Given the description of an element on the screen output the (x, y) to click on. 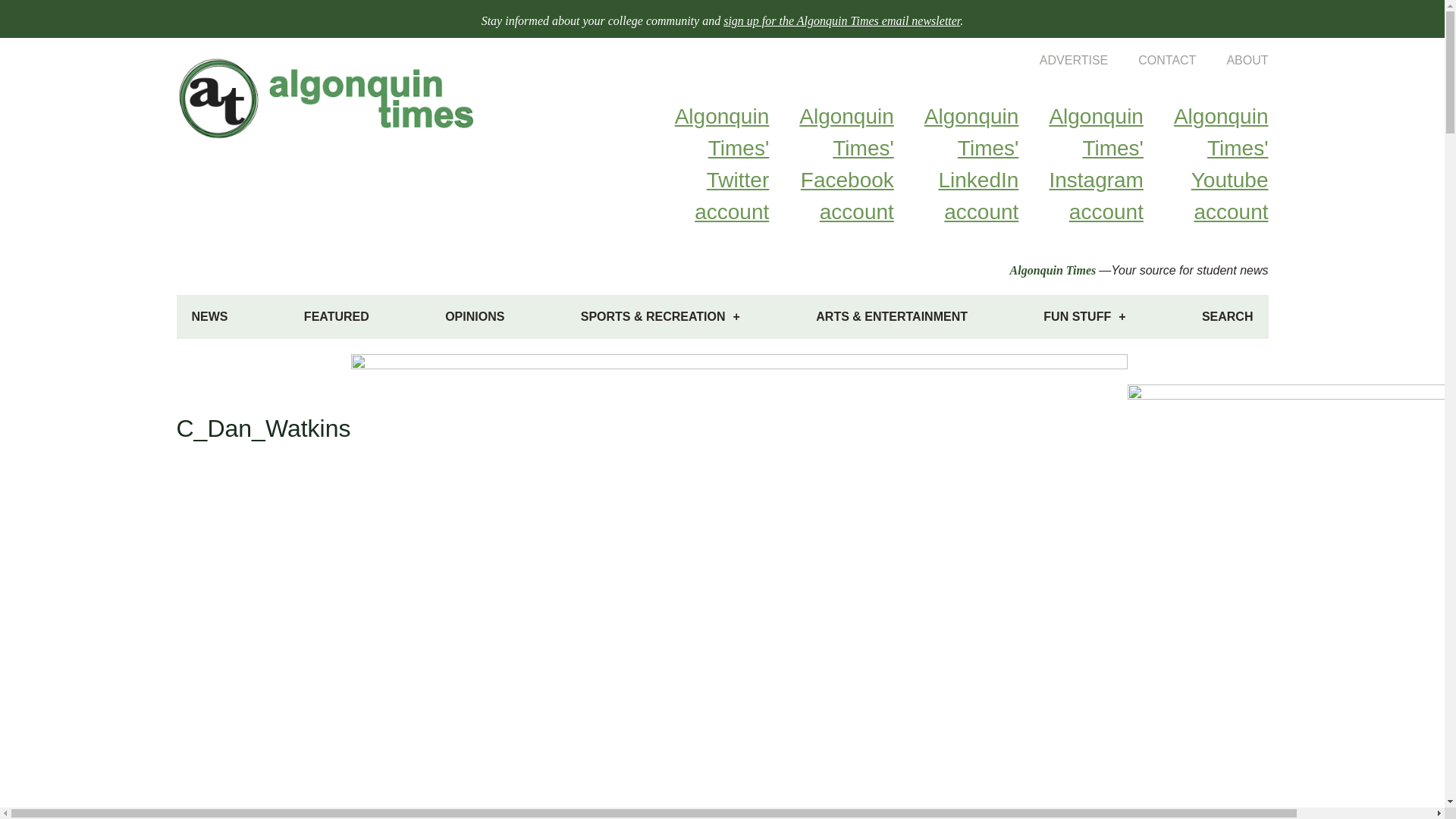
SEARCH (1227, 316)
OPINIONS (474, 316)
ADVERTISE (1058, 60)
Algonquin Times' Facebook account (830, 163)
sign up for the Algonquin Times email newsletter (841, 20)
FEATURED (336, 316)
Algonquin Times' Twitter account (707, 163)
Algonquin Times' Instagram account (1079, 163)
Algonquin Times' LinkedIn account (956, 163)
FUN STUFF (1083, 316)
Algonquin Times (1053, 269)
Algonquin Times' Youtube account (1205, 163)
NEWS (209, 316)
ABOUT (1231, 60)
CONTACT (1151, 60)
